Given the description of an element on the screen output the (x, y) to click on. 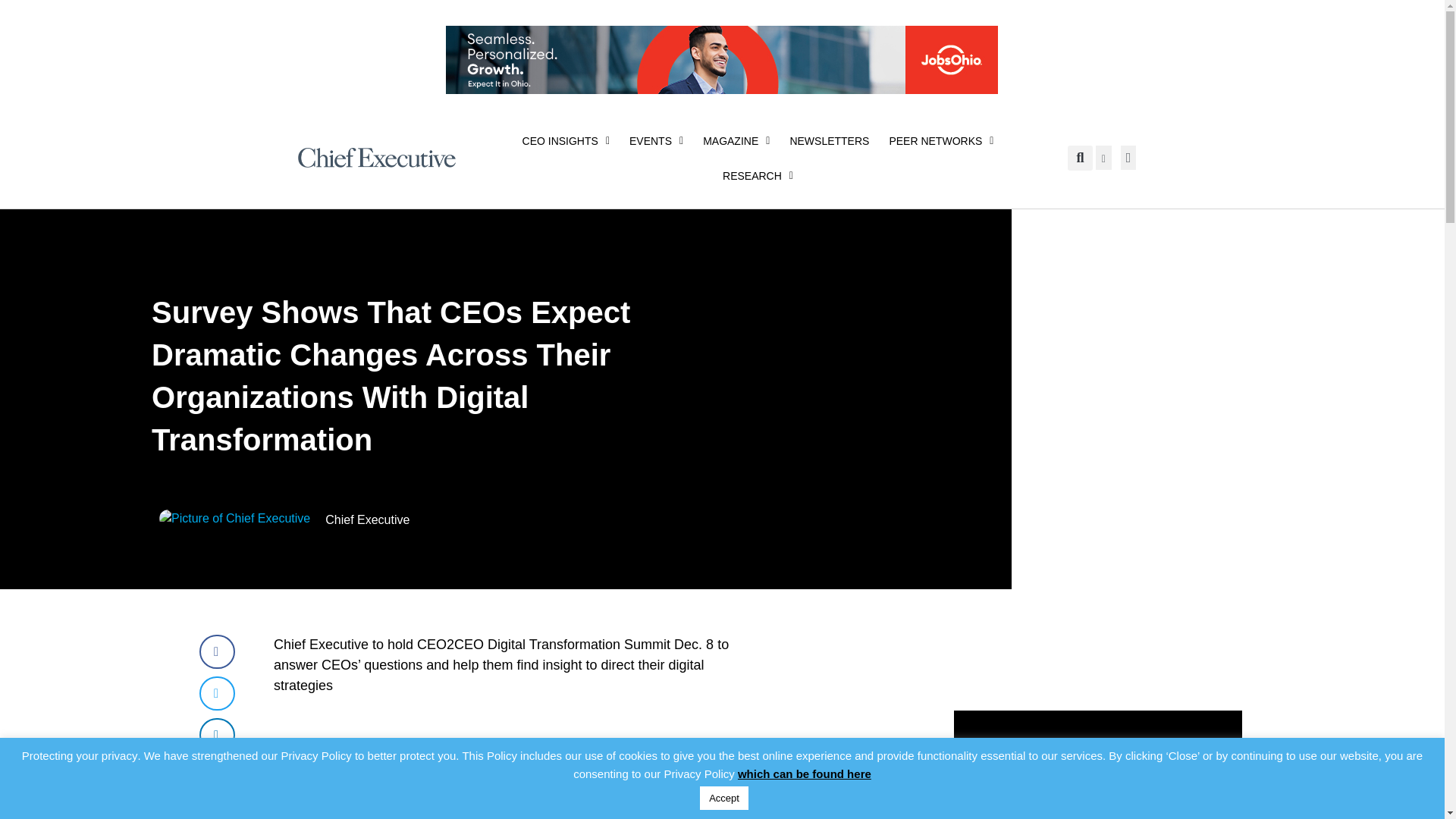
NEWSLETTERS (828, 140)
RESEARCH (758, 175)
MAGAZINE (735, 140)
EVENTS (656, 140)
CEO INSIGHTS (566, 140)
PEER NETWORKS (941, 140)
